Given the description of an element on the screen output the (x, y) to click on. 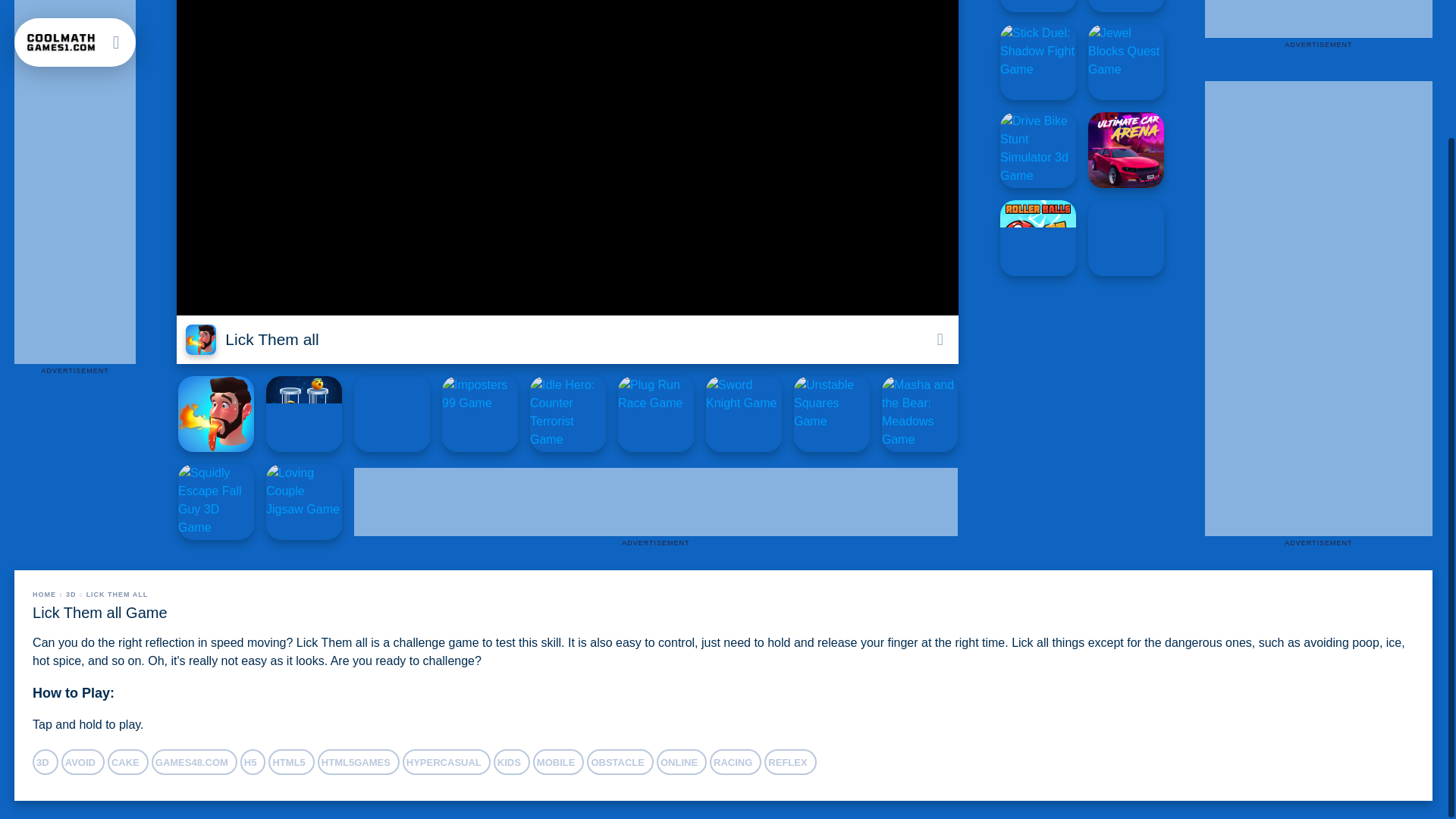
avoid (82, 761)
online (681, 761)
h5 (253, 761)
Games48.com (194, 761)
racing (735, 761)
reflex (789, 761)
on (939, 339)
hypercasual (446, 761)
obstacle (619, 761)
